Given the description of an element on the screen output the (x, y) to click on. 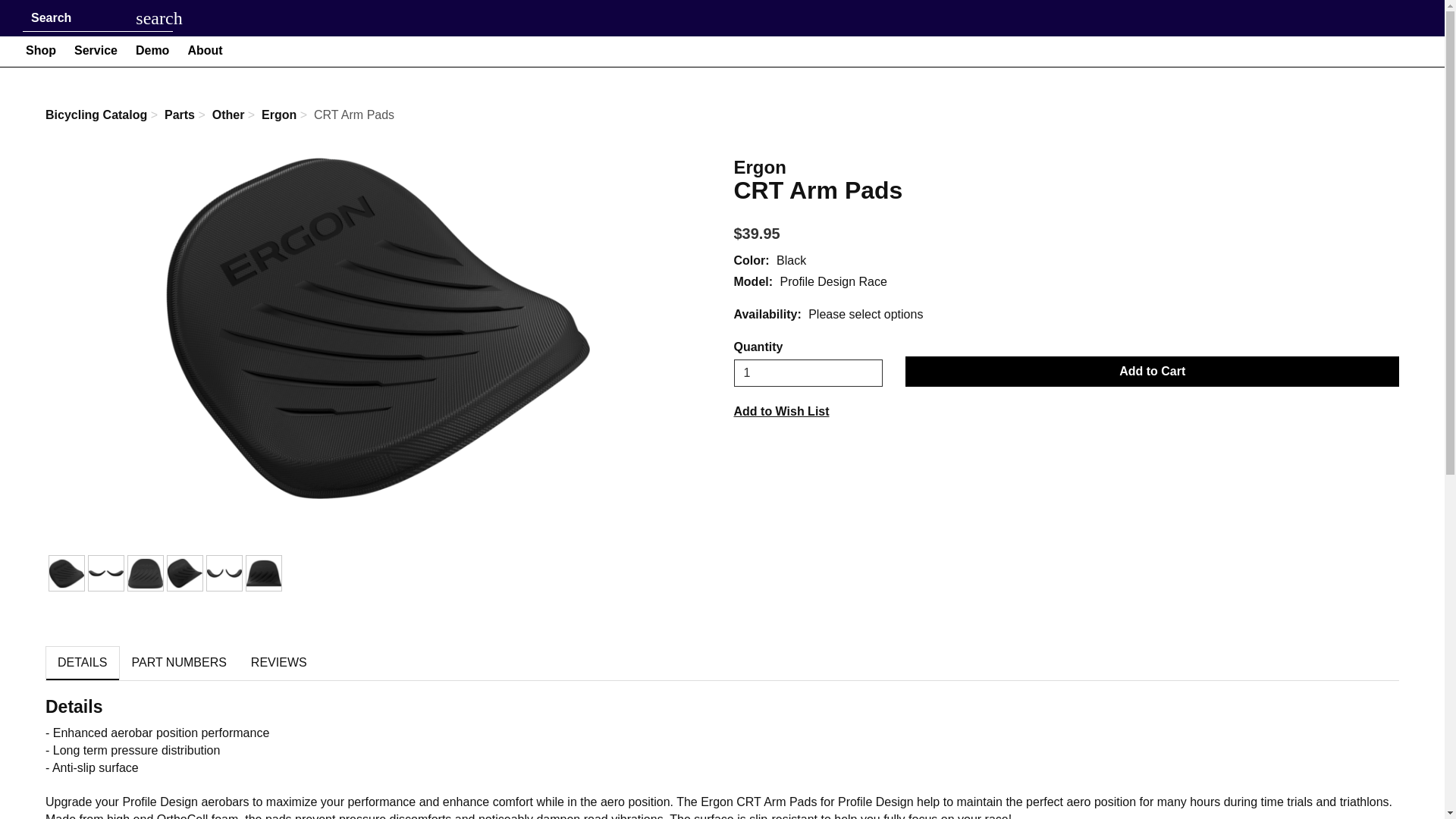
Shop (40, 50)
Search (84, 17)
Search (159, 17)
1 (808, 372)
